Given the description of an element on the screen output the (x, y) to click on. 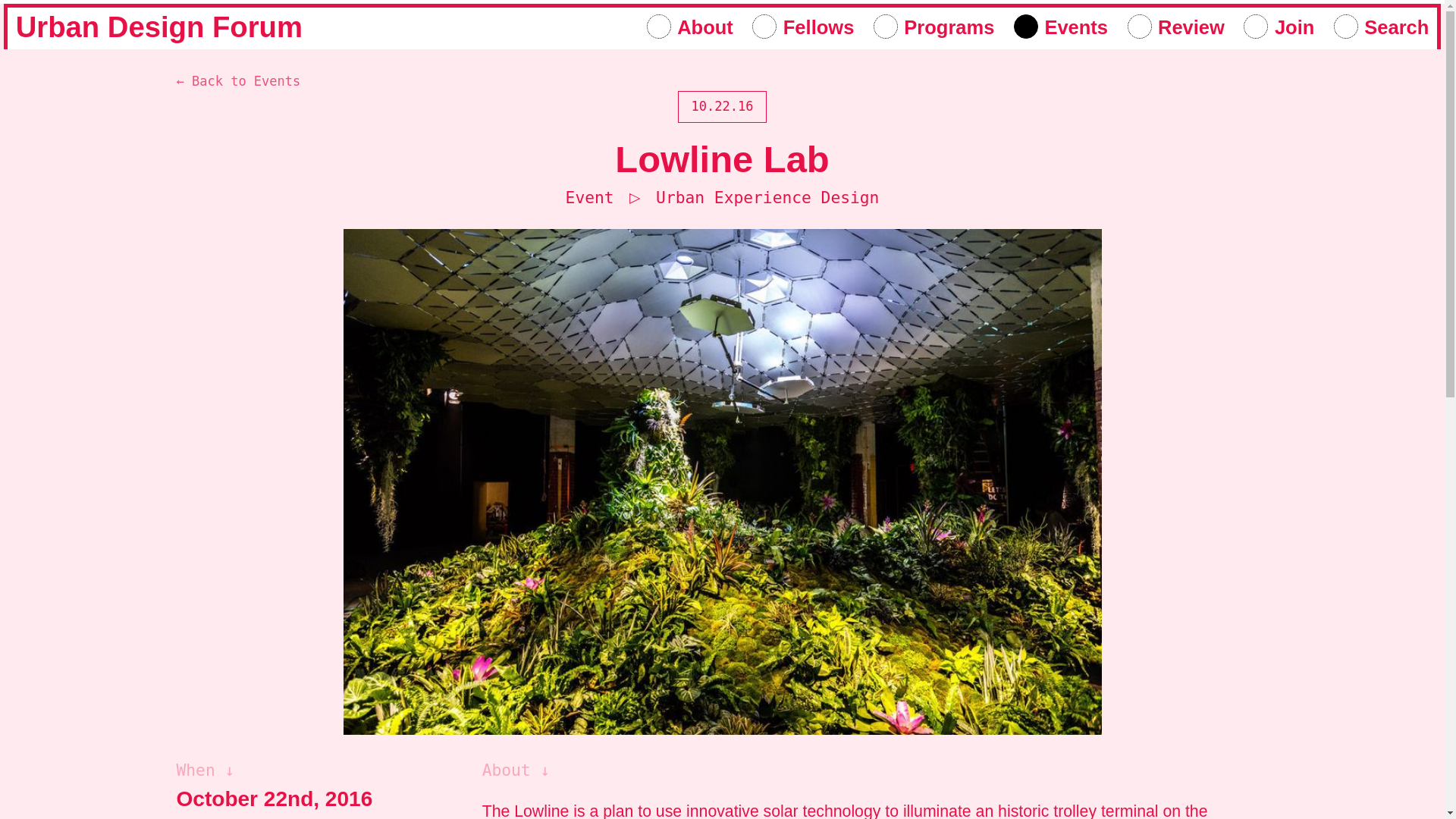
Fellows (802, 25)
Search (1381, 25)
Review (1175, 25)
Search (1381, 25)
About (689, 25)
Programs (933, 25)
Urban Design Forum (159, 26)
Join (1278, 25)
Events (1060, 25)
